Given the description of an element on the screen output the (x, y) to click on. 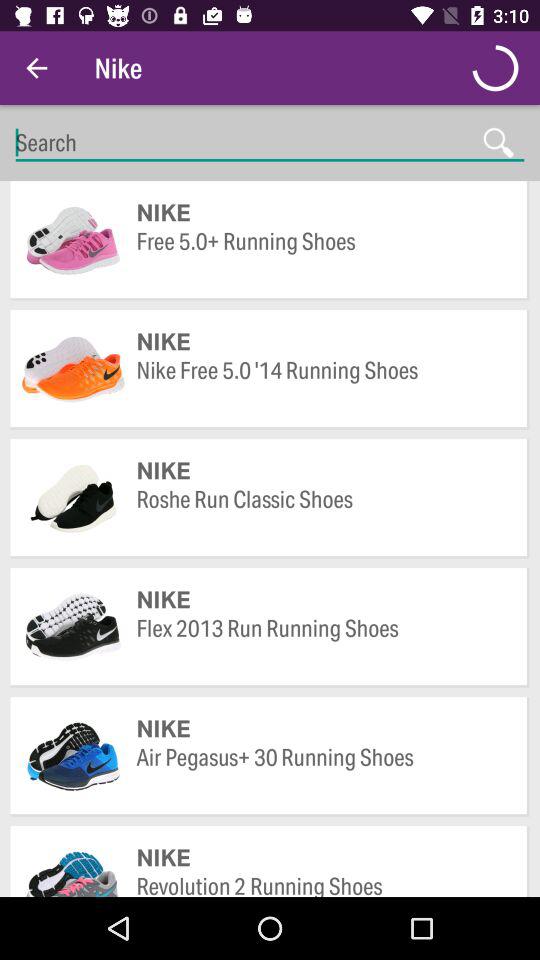
turn on icon above the nike item (322, 642)
